Given the description of an element on the screen output the (x, y) to click on. 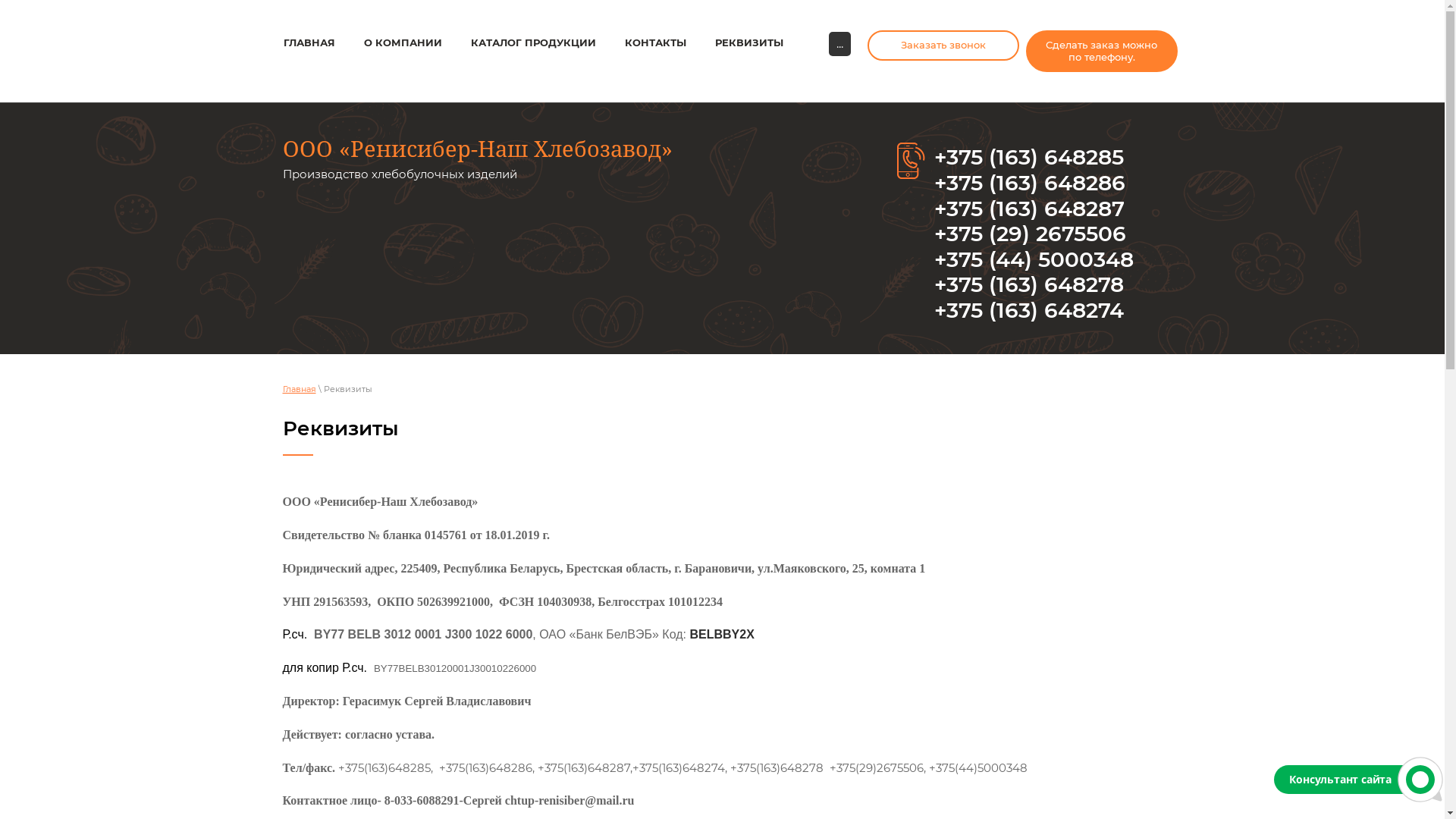
... Element type: text (839, 43)
+375 (163) 648287 Element type: text (1029, 208)
+375 (163) 648274 Element type: text (1028, 310)
+375 (163) 648285 Element type: text (1028, 156)
+375 (163) 648278 Element type: text (1028, 284)
+375 (29) 2675506 Element type: text (1030, 233)
+375 (44) 5000348 Element type: text (1033, 259)
+375 (163) 648286 Element type: text (1029, 182)
